Given the description of an element on the screen output the (x, y) to click on. 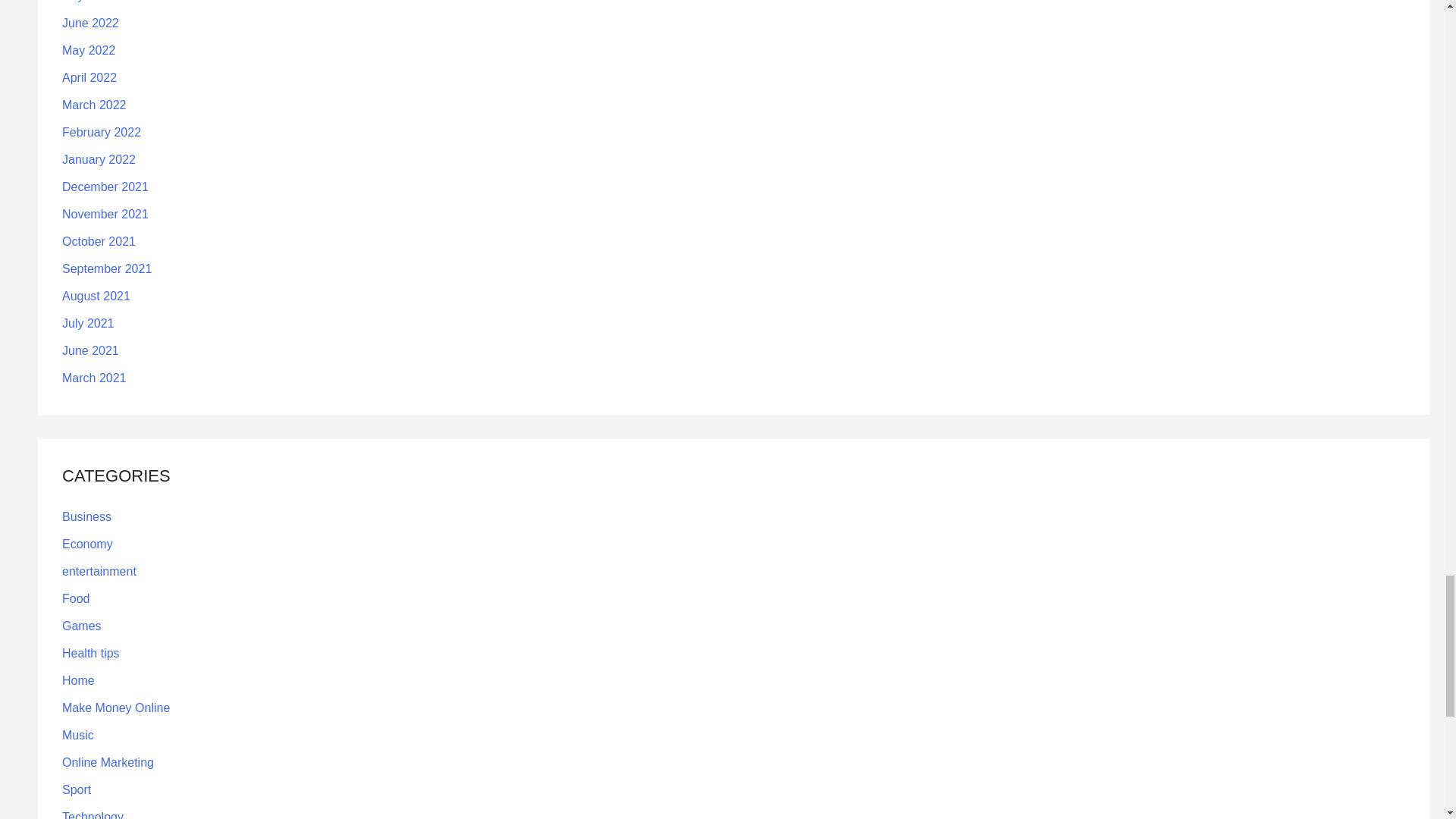
July 2022 (88, 1)
May 2022 (88, 50)
June 2022 (90, 22)
March 2022 (94, 104)
February 2022 (101, 132)
April 2022 (89, 77)
